Given the description of an element on the screen output the (x, y) to click on. 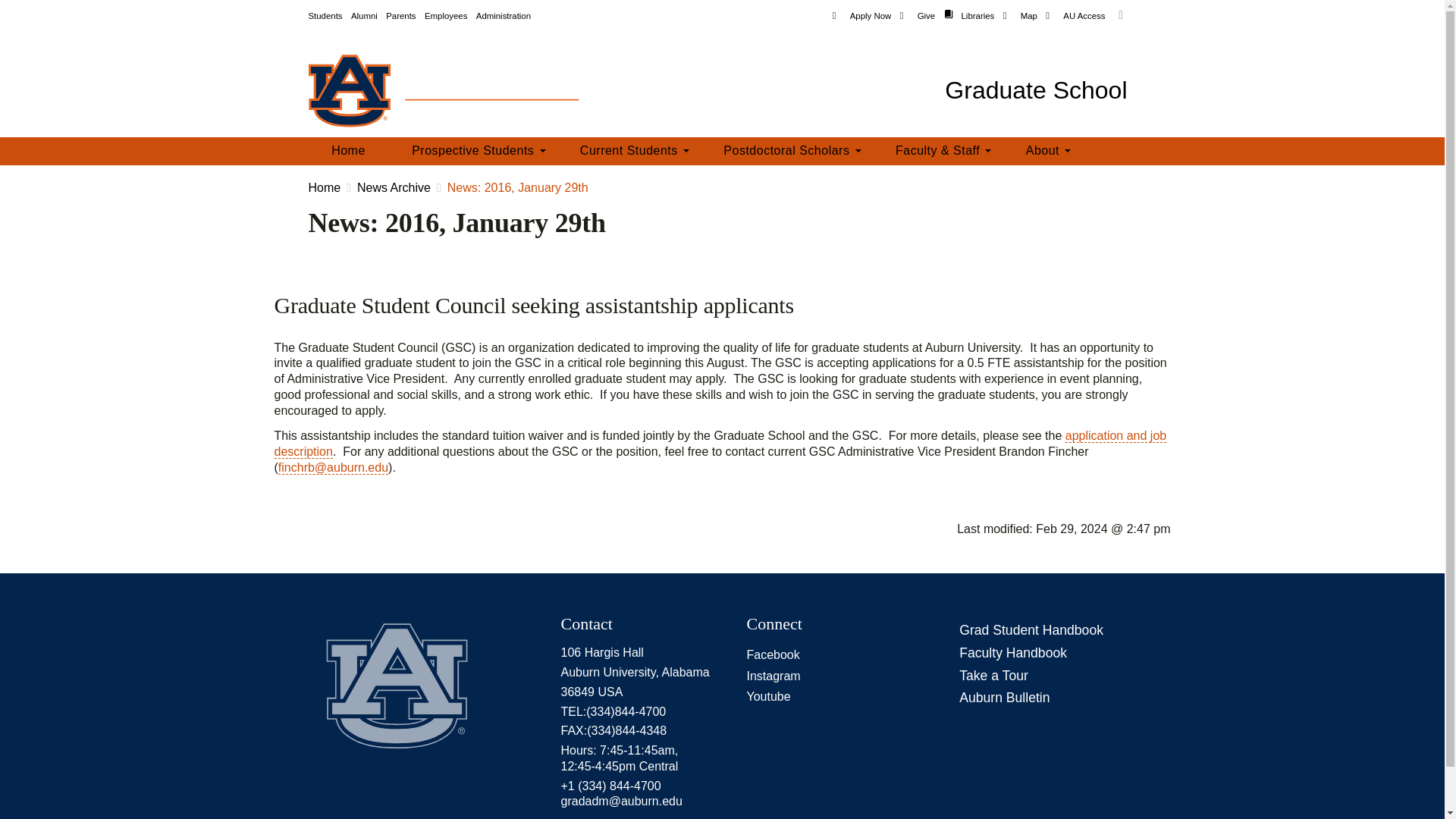
AU Access (1075, 17)
Map (1019, 17)
Prospective Students (472, 151)
Give (916, 17)
Employees (446, 17)
Administration (503, 17)
Alumni (363, 17)
Libraries (968, 17)
Parents (399, 17)
Students (324, 17)
Apply Now (861, 17)
TOGGLE SEARCH INTERFACE (1120, 15)
Home (347, 151)
